Given the description of an element on the screen output the (x, y) to click on. 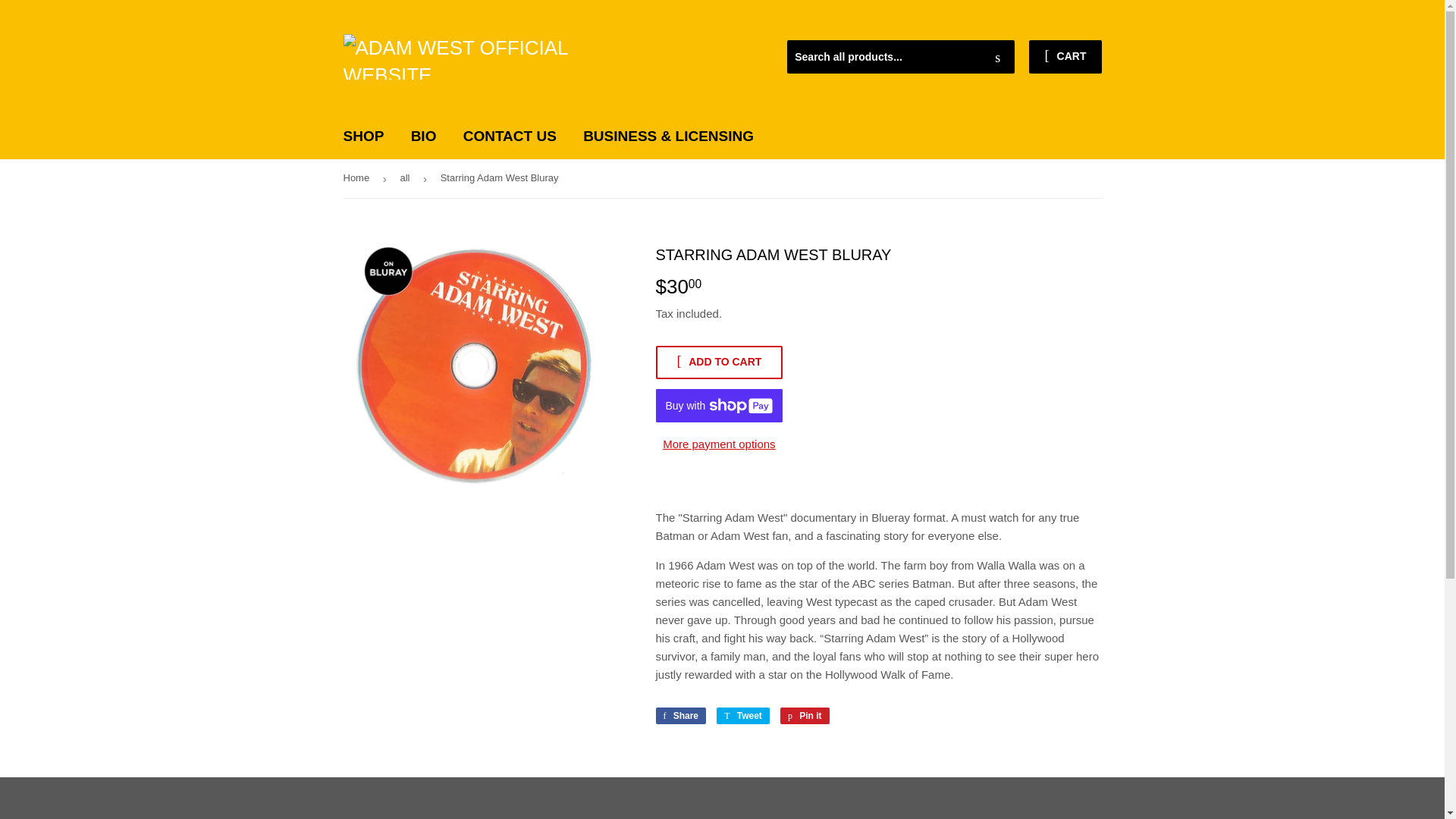
Search (996, 57)
BIO (423, 135)
CONTACT US (804, 715)
CART (509, 135)
ADD TO CART (743, 715)
Pin on Pinterest (1064, 56)
Tweet on Twitter (719, 362)
More payment options (804, 715)
SHOP (680, 715)
Share on Facebook (743, 715)
